Given the description of an element on the screen output the (x, y) to click on. 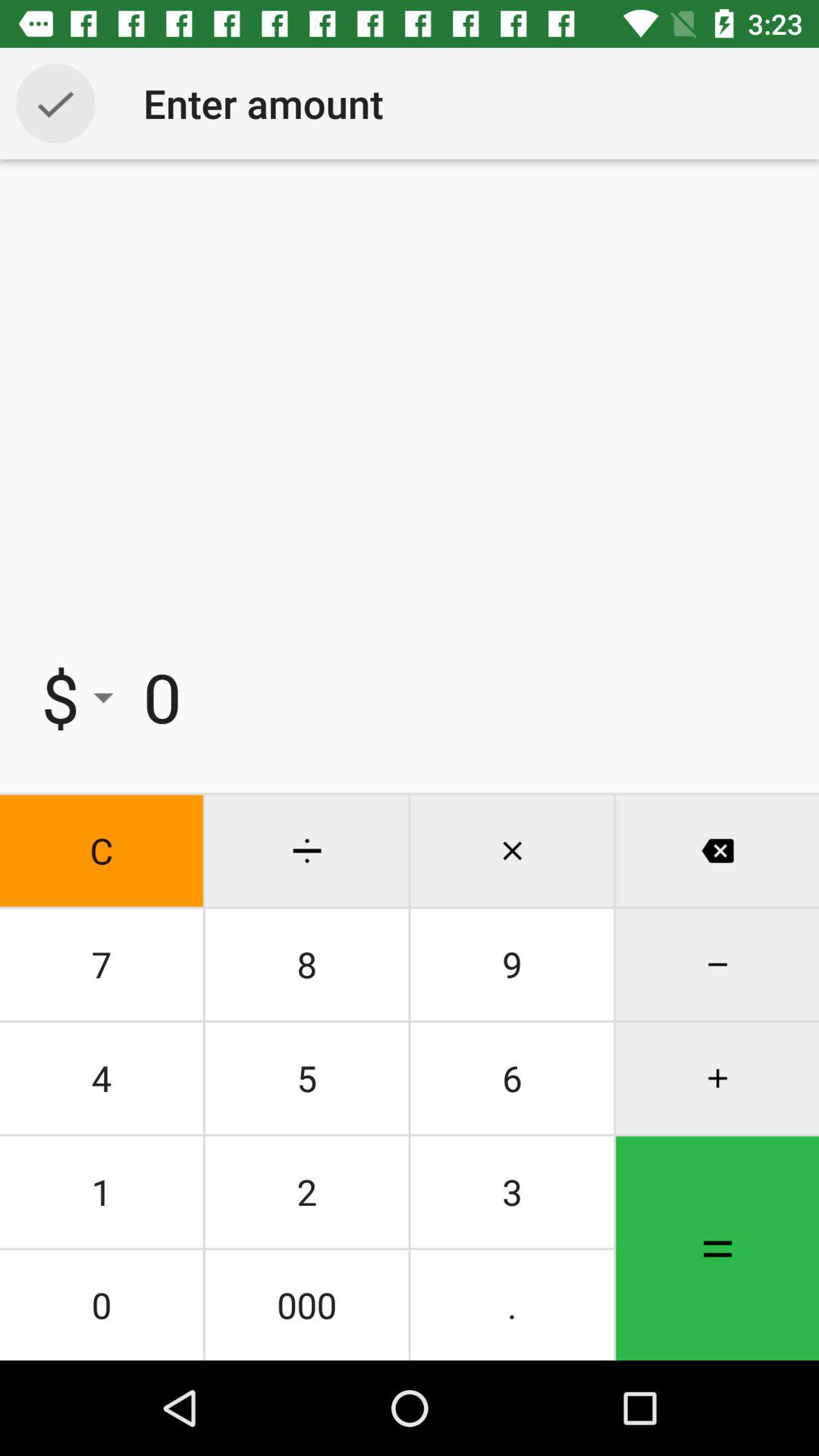
choose the item next to 8 item (511, 1078)
